Given the description of an element on the screen output the (x, y) to click on. 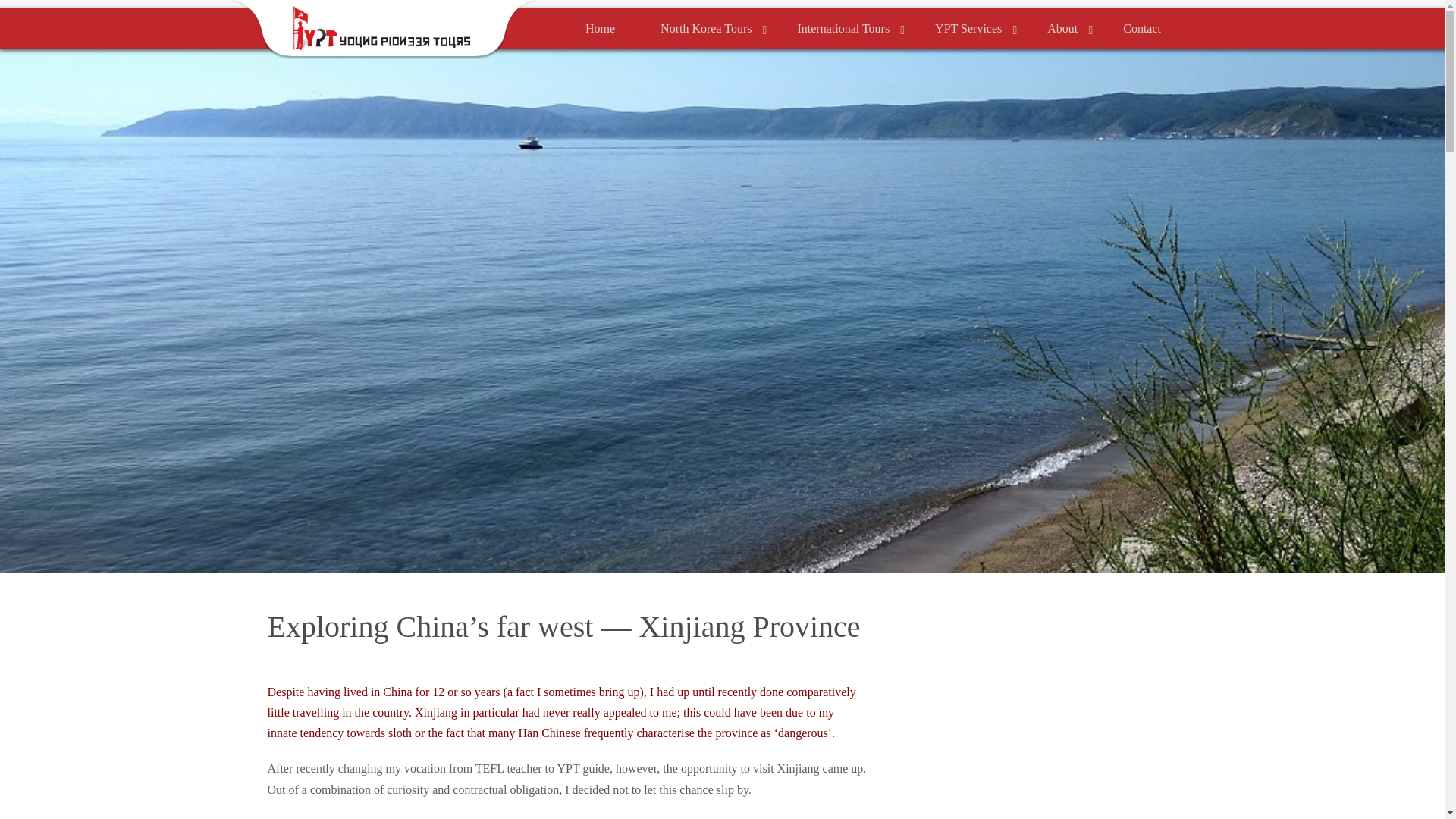
Home (599, 28)
North Korea Tours (705, 28)
International Tours (843, 28)
About (1062, 28)
